Given the description of an element on the screen output the (x, y) to click on. 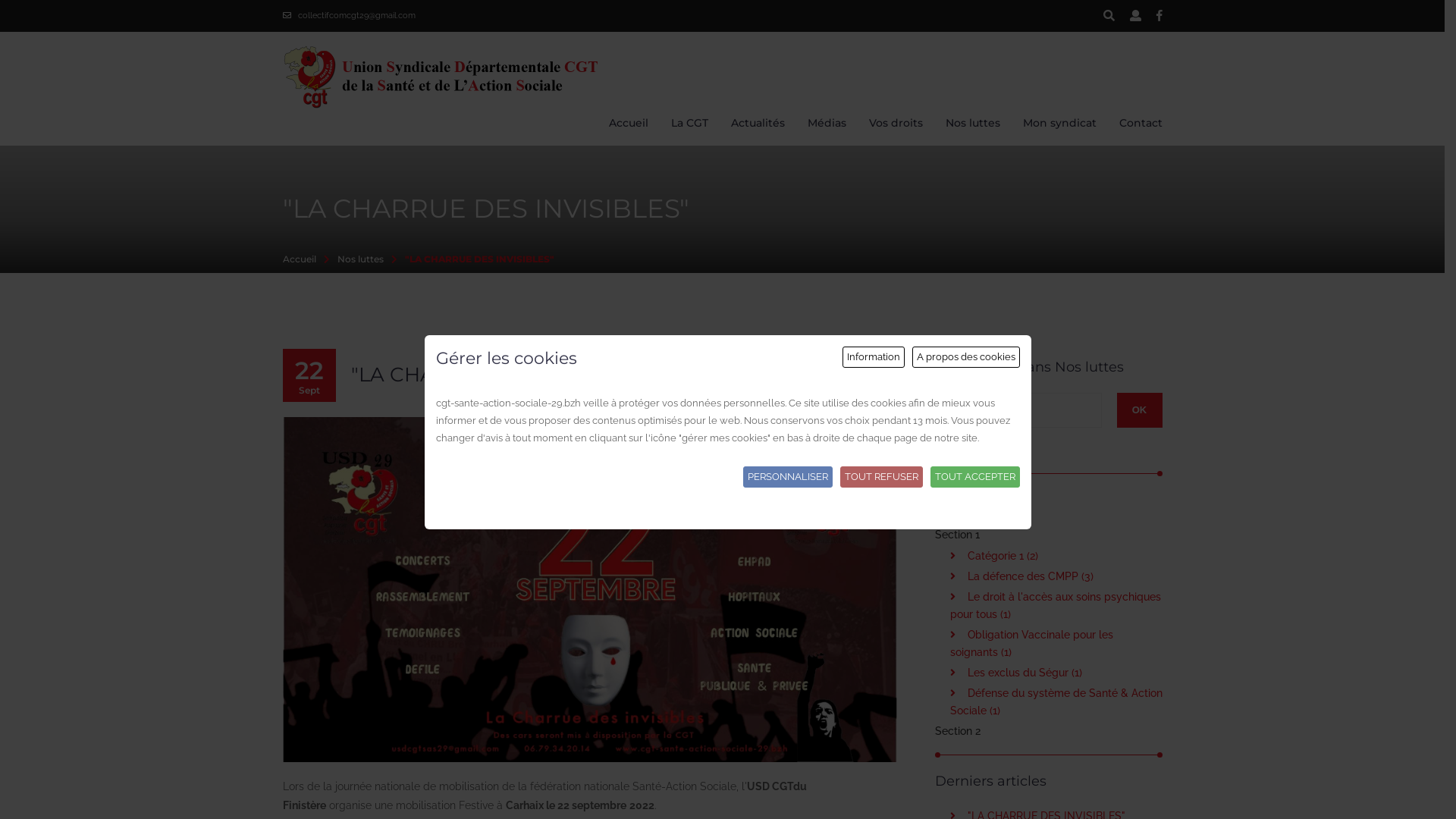
A propos des cookies Element type: text (965, 356)
Accueil Element type: text (627, 122)
Accueil Element type: text (298, 258)
Nos luttes Element type: text (359, 258)
Vos droits Element type: text (895, 122)
TOUT REFUSER Element type: text (881, 476)
    Obligation Vaccinale pour les soignants (1) Element type: text (1030, 642)
TOUT ACCEPTER Element type: text (974, 476)
OK Element type: text (1138, 409)
Nos luttes Element type: text (971, 122)
PERSONNALISER Element type: text (787, 476)
Contact Element type: text (1140, 122)
Information Element type: text (873, 356)
Mon syndicat Element type: text (1058, 122)
